Given the description of an element on the screen output the (x, y) to click on. 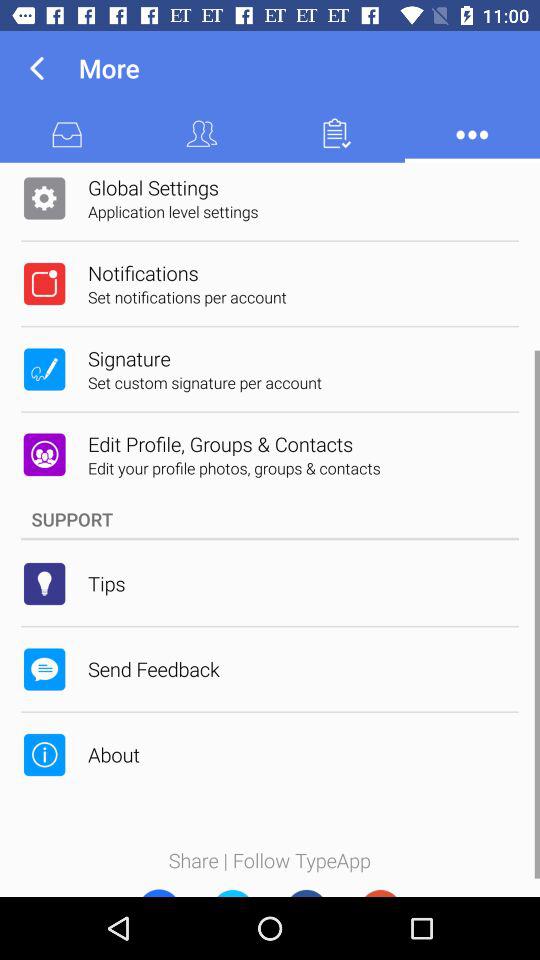
click the tips icon (106, 583)
